Given the description of an element on the screen output the (x, y) to click on. 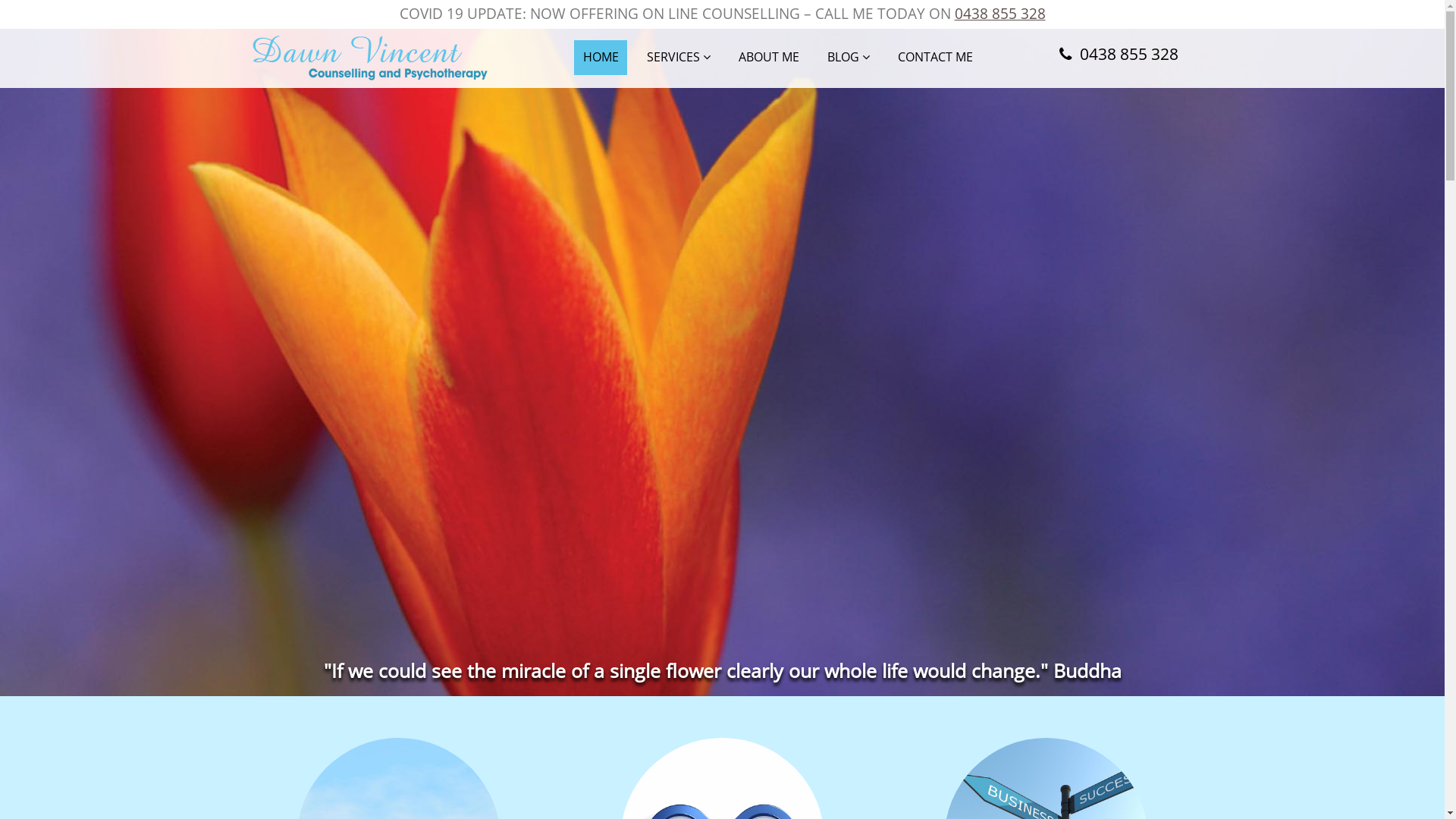
BLOG Element type: text (848, 57)
0438 855 328 Element type: text (998, 13)
SERVICES Element type: text (677, 57)
CONTACT ME Element type: text (935, 57)
0438 855 328 Element type: text (1115, 55)
HOME Element type: text (600, 57)
ABOUT ME Element type: text (769, 57)
